Given the description of an element on the screen output the (x, y) to click on. 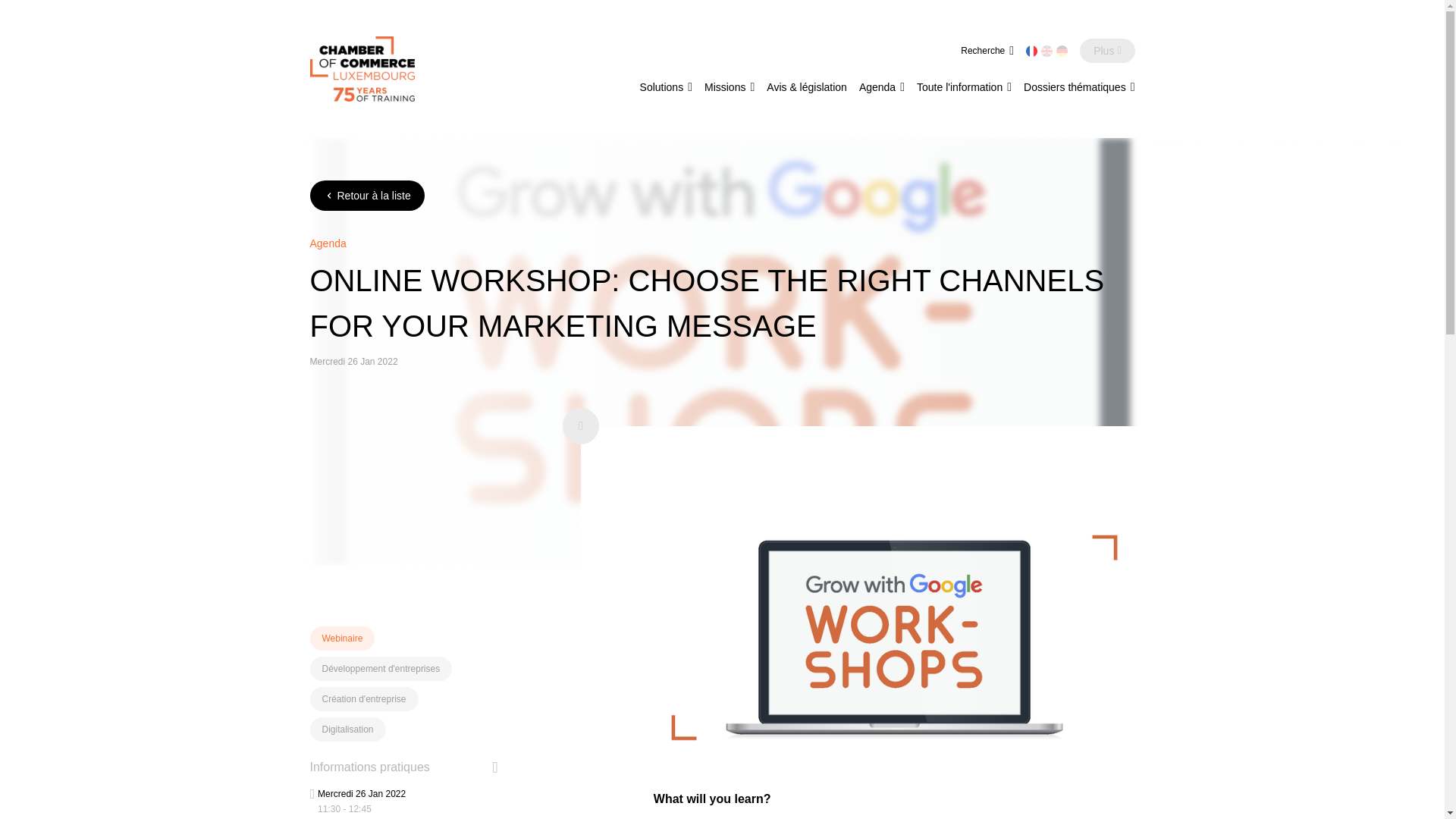
Plus (1107, 50)
Deutsch (1062, 50)
English (1046, 50)
Recherche (986, 50)
